Given the description of an element on the screen output the (x, y) to click on. 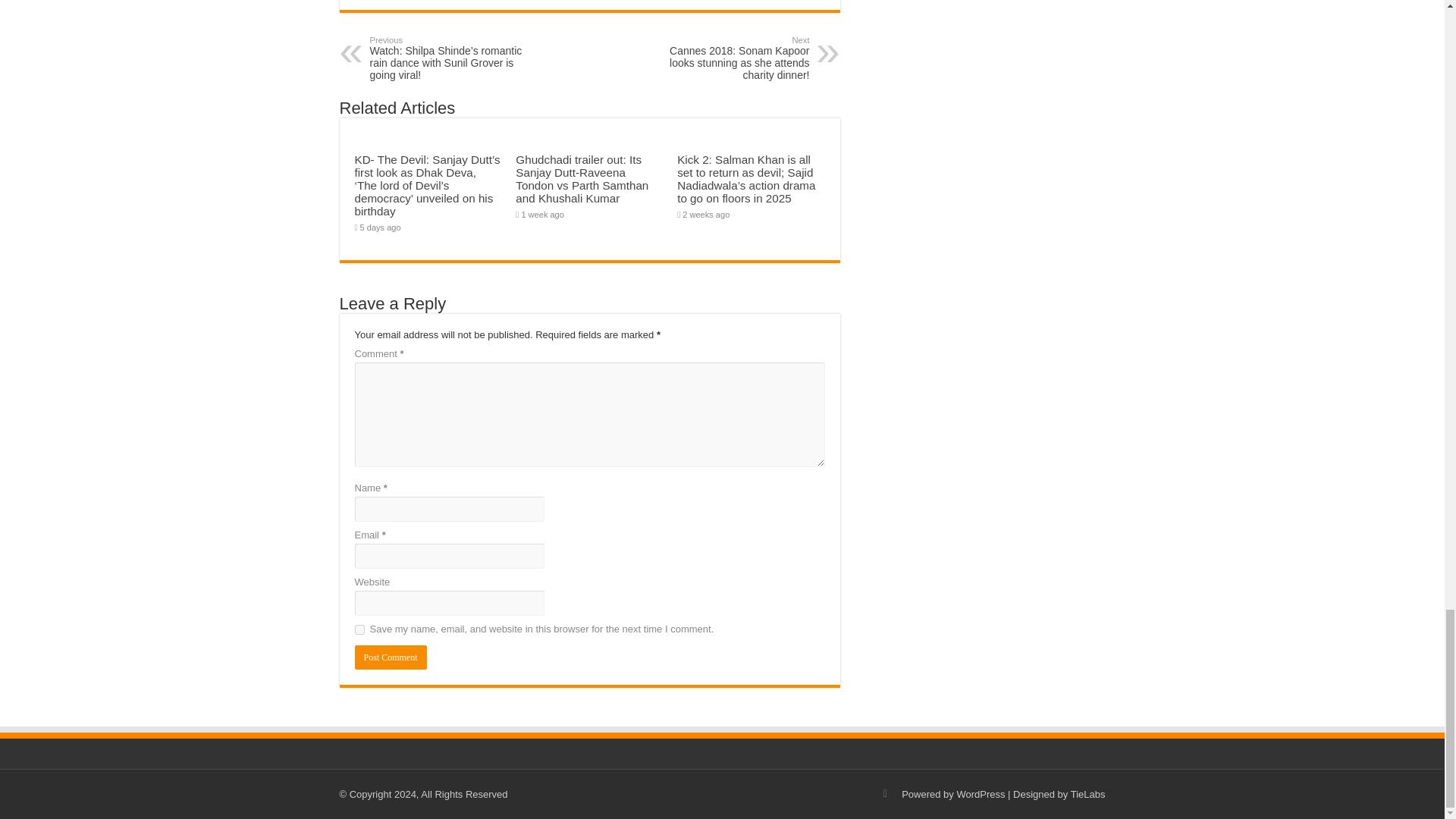
Post Comment (390, 657)
yes (360, 629)
